Given the description of an element on the screen output the (x, y) to click on. 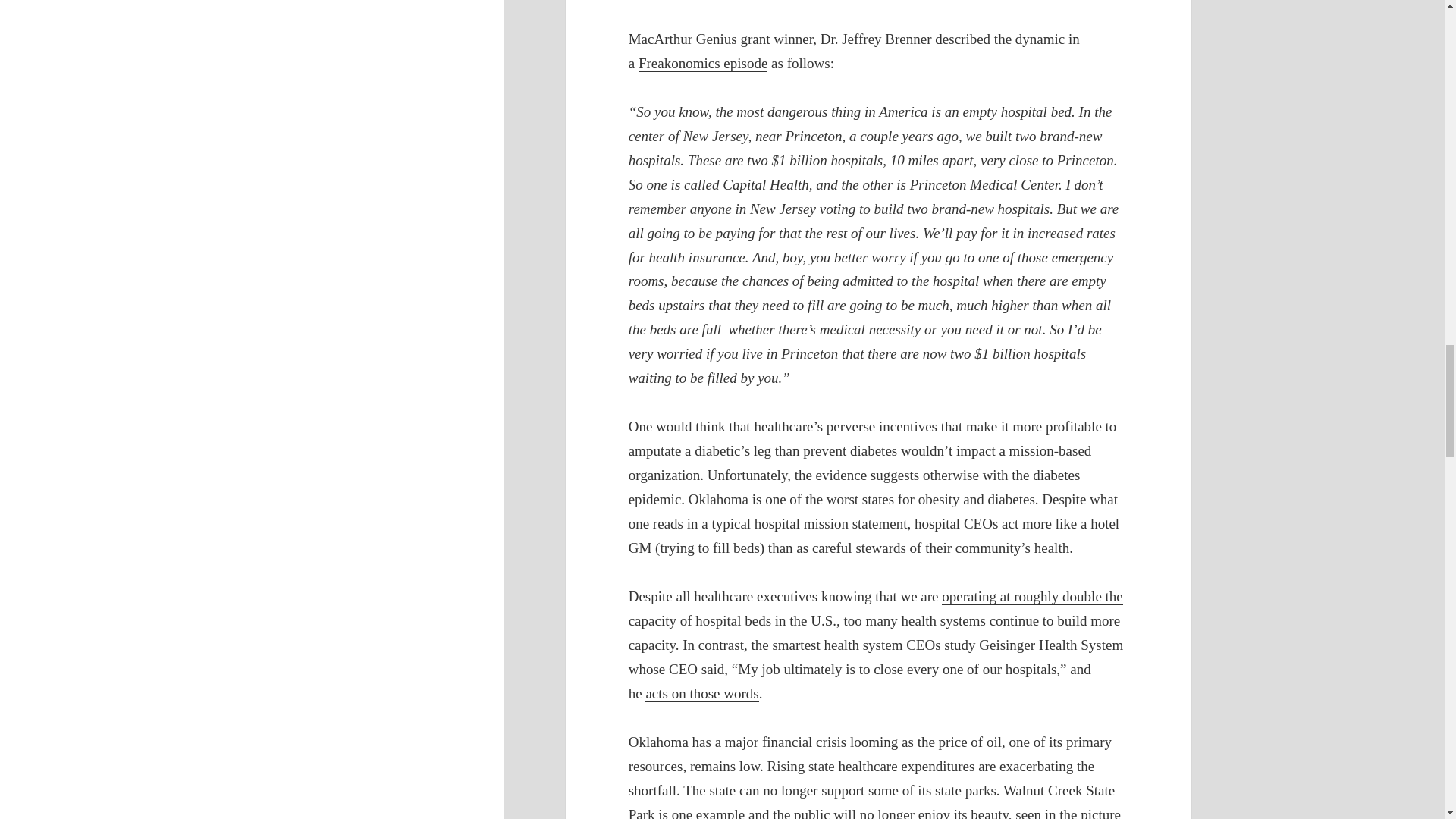
Freakonomics episode (703, 63)
acts on those words (701, 693)
typical hospital mission statement (809, 523)
